Given the description of an element on the screen output the (x, y) to click on. 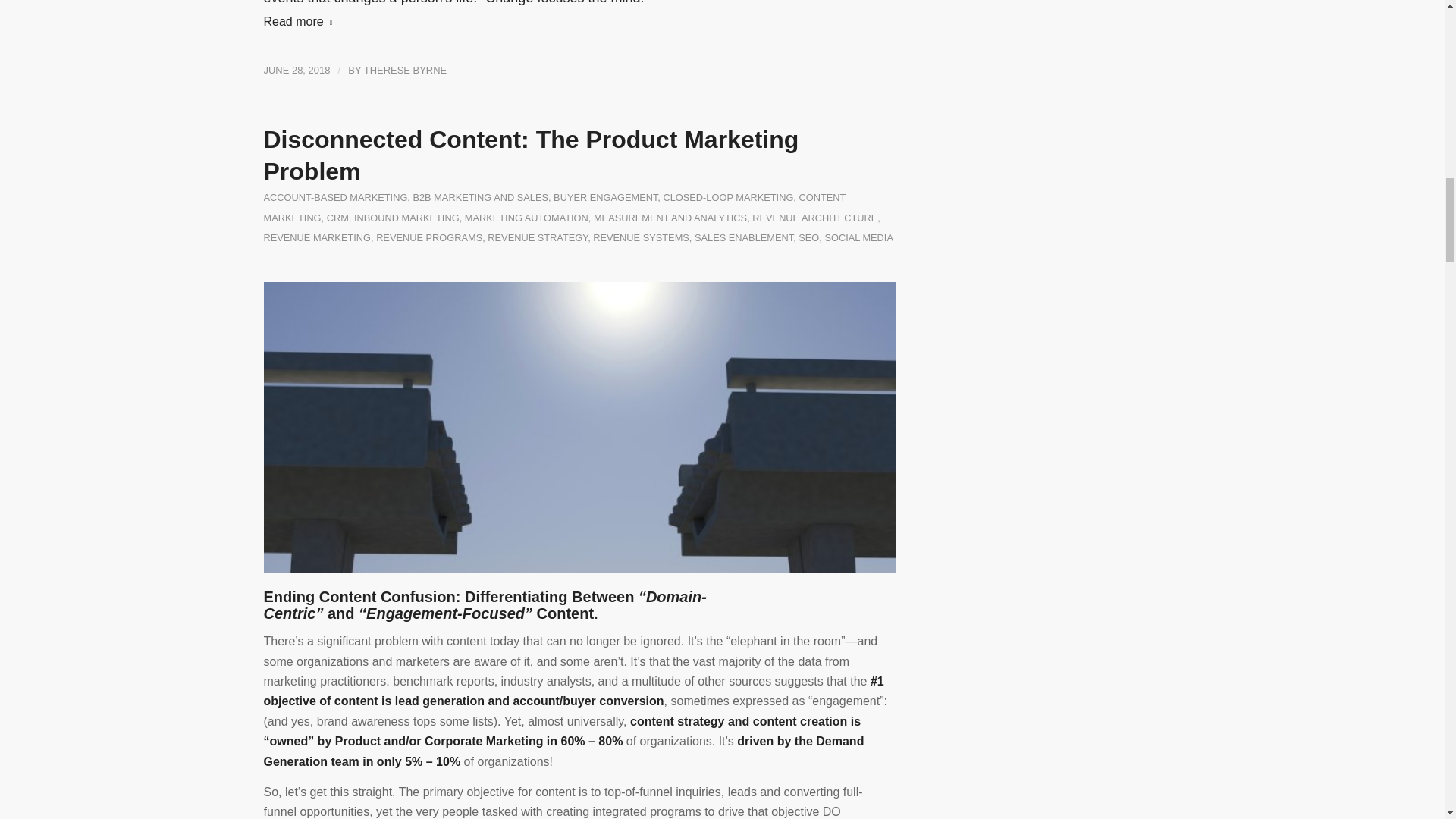
Posts by Therese Byrne (405, 70)
